Given the description of an element on the screen output the (x, y) to click on. 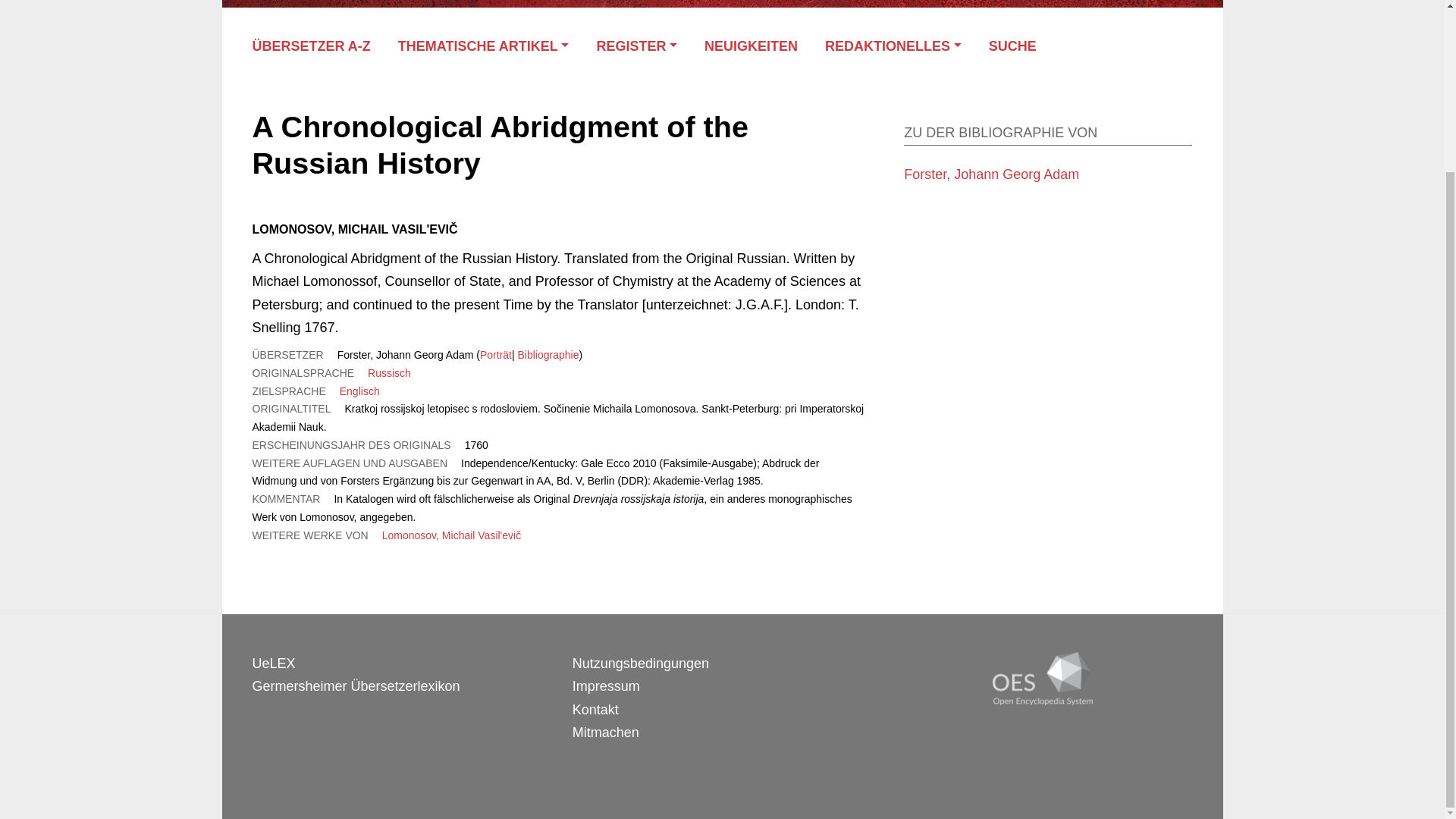
Mitmachen (605, 732)
SUCHE (1020, 46)
Nutzungsbedingungen (640, 663)
NEUIGKEITEN (750, 46)
Open OES Search Panel (1020, 46)
Forster, Johann Georg Adam (991, 174)
REDAKTIONELLES (892, 46)
Impressum (606, 685)
REGISTER (636, 46)
Kontakt (595, 709)
THEMATISCHE ARTIKEL (483, 46)
Englisch (359, 390)
Russisch (389, 372)
Bibliographie (547, 354)
